Given the description of an element on the screen output the (x, y) to click on. 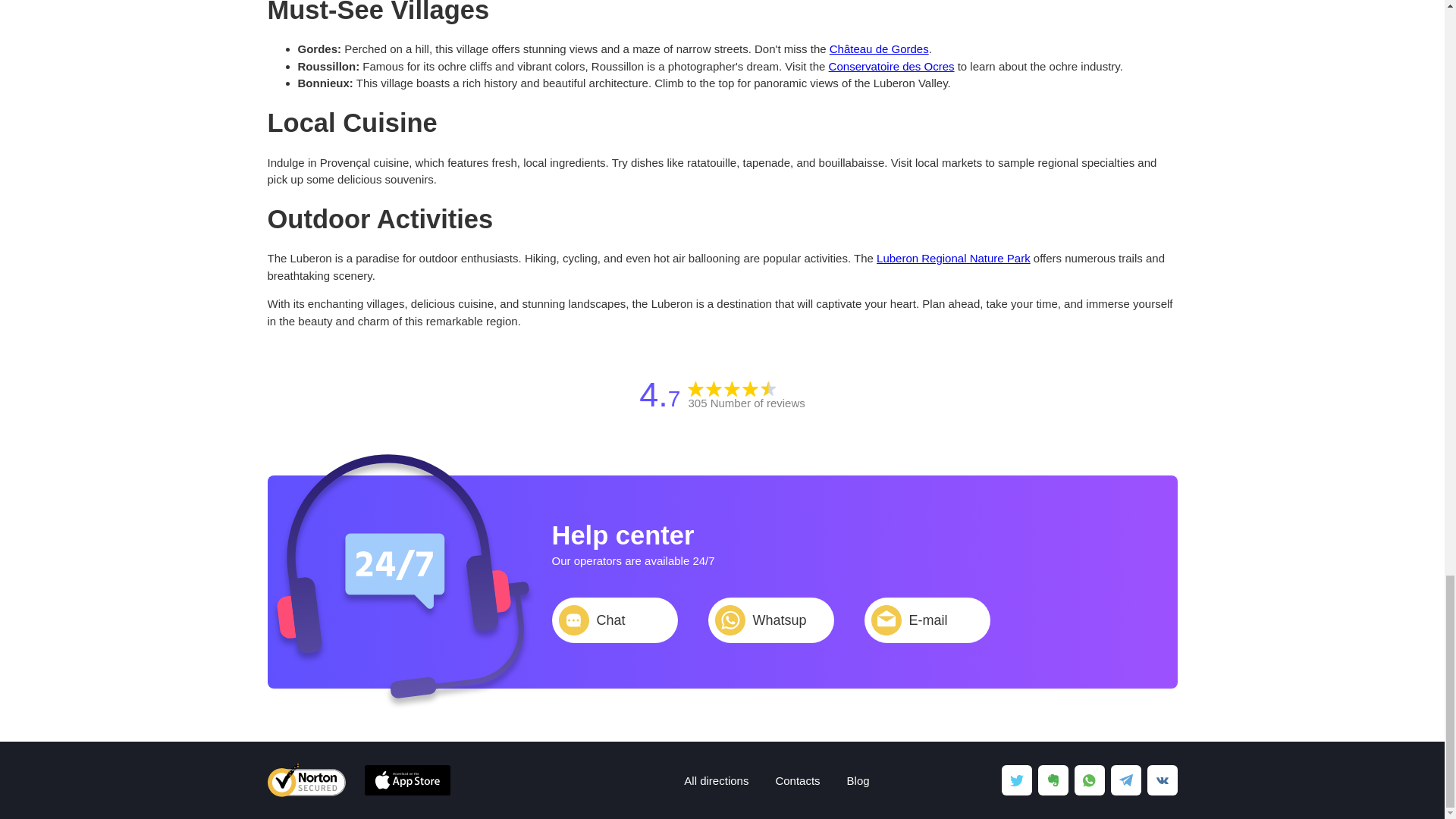
Telegram (1124, 779)
Evernote (1051, 779)
Twitter (1015, 779)
WhatsApp (1088, 779)
